Given the description of an element on the screen output the (x, y) to click on. 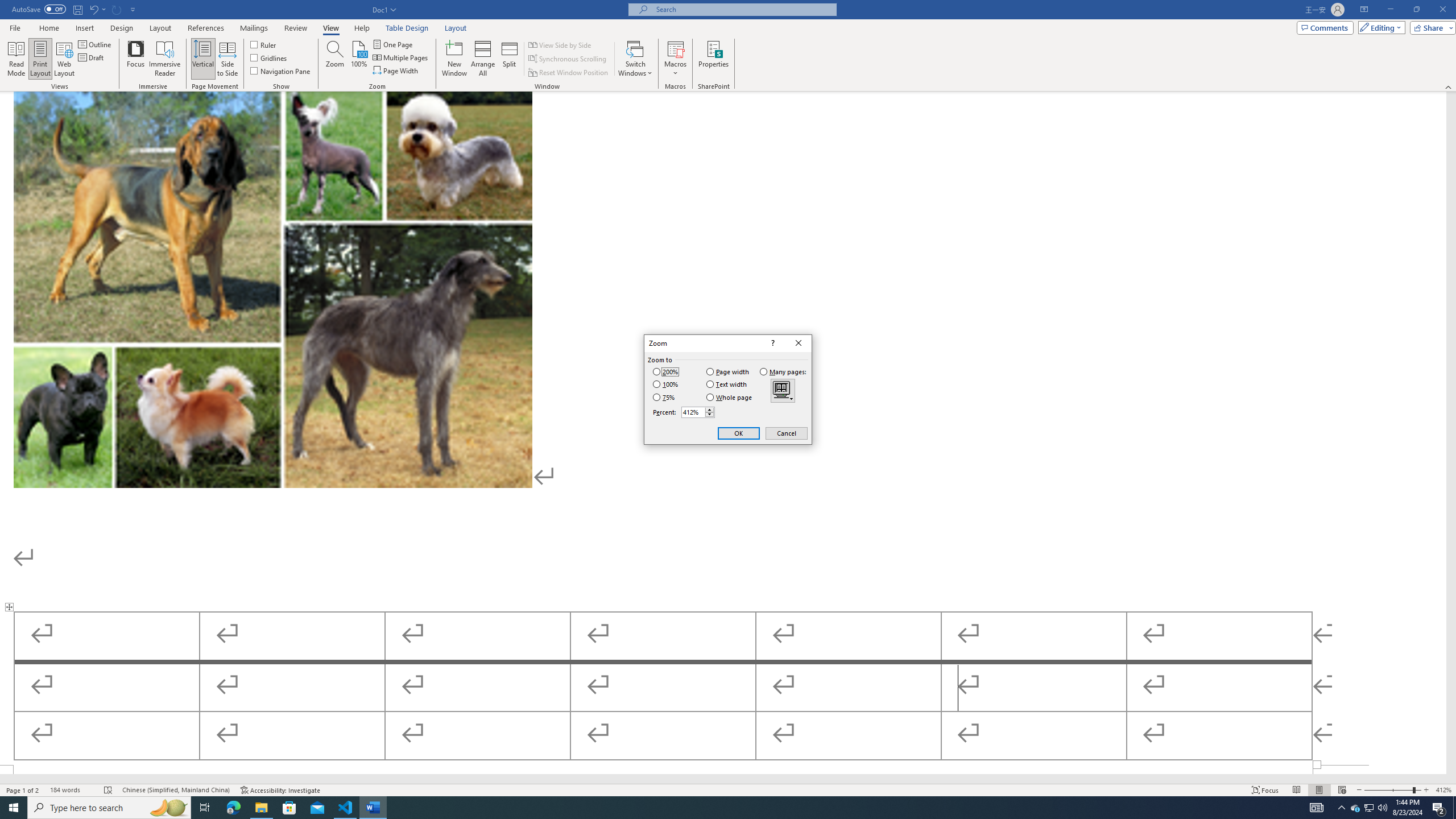
View Macros (675, 48)
MSO Generic Control Container (782, 390)
Multiple Pages (782, 390)
Focus (135, 58)
Vertical (202, 58)
Page Width (396, 69)
Side to Side (226, 58)
